Given the description of an element on the screen output the (x, y) to click on. 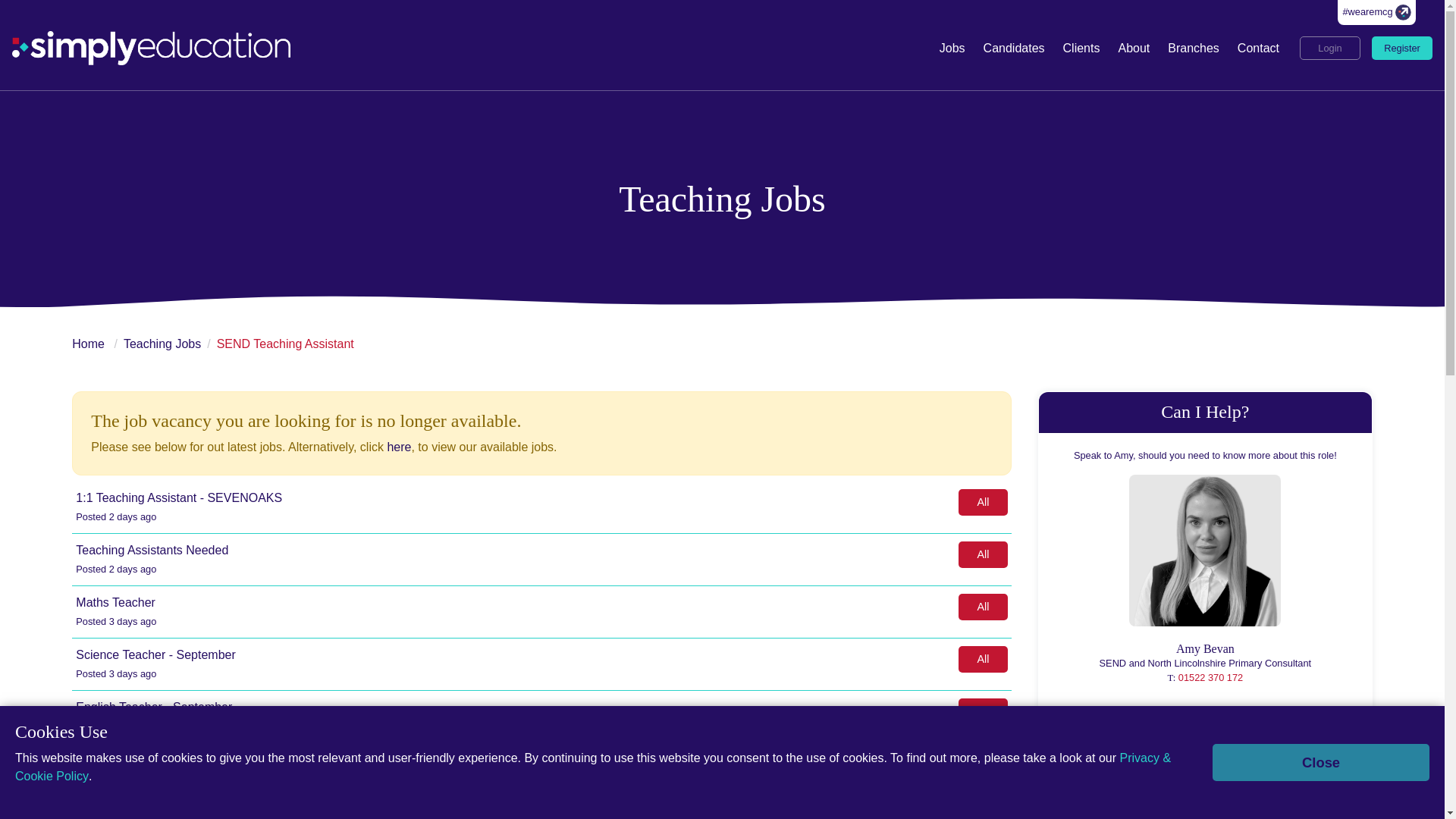
Contact (1258, 48)
Amy Bevan picture (1205, 550)
Jobs (952, 48)
Candidates (1014, 48)
Register (1401, 47)
Clients (1081, 48)
Login (1329, 47)
About (1133, 48)
Branches (1193, 48)
